Given the description of an element on the screen output the (x, y) to click on. 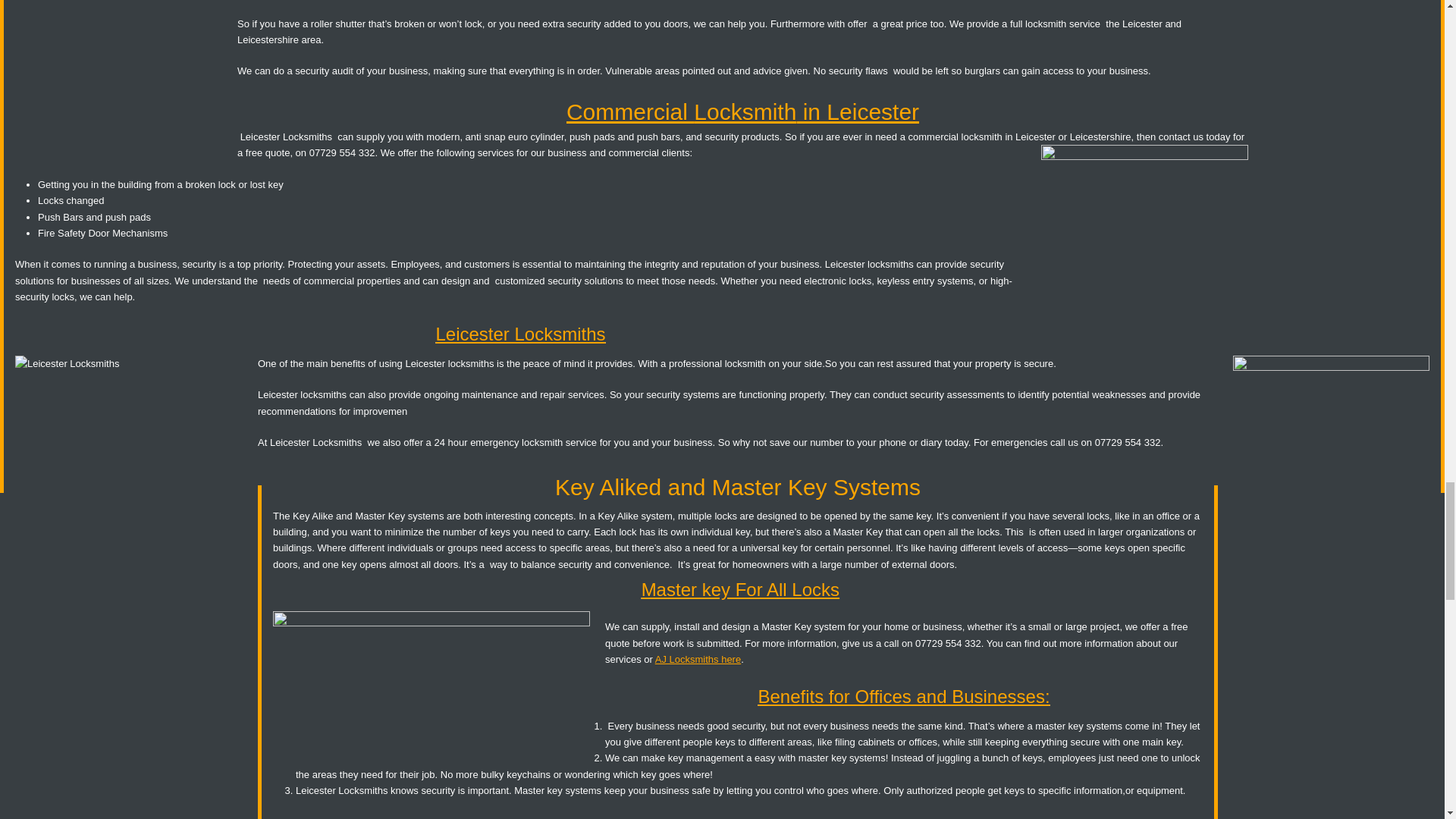
AJ Locksmiths here (698, 659)
 full locksmith service (1053, 23)
